Given the description of an element on the screen output the (x, y) to click on. 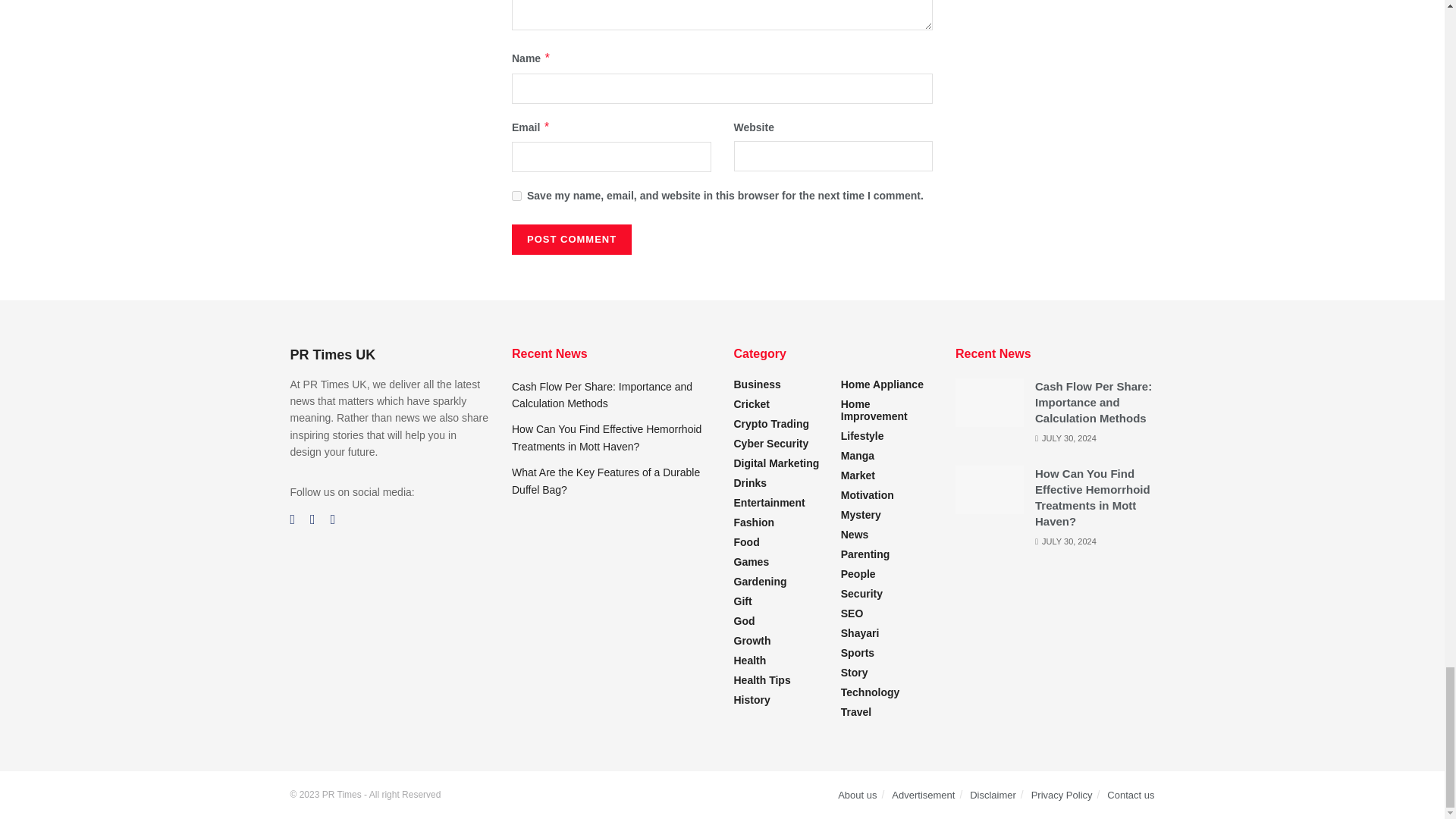
yes (516, 195)
Post Comment (571, 239)
